Given the description of an element on the screen output the (x, y) to click on. 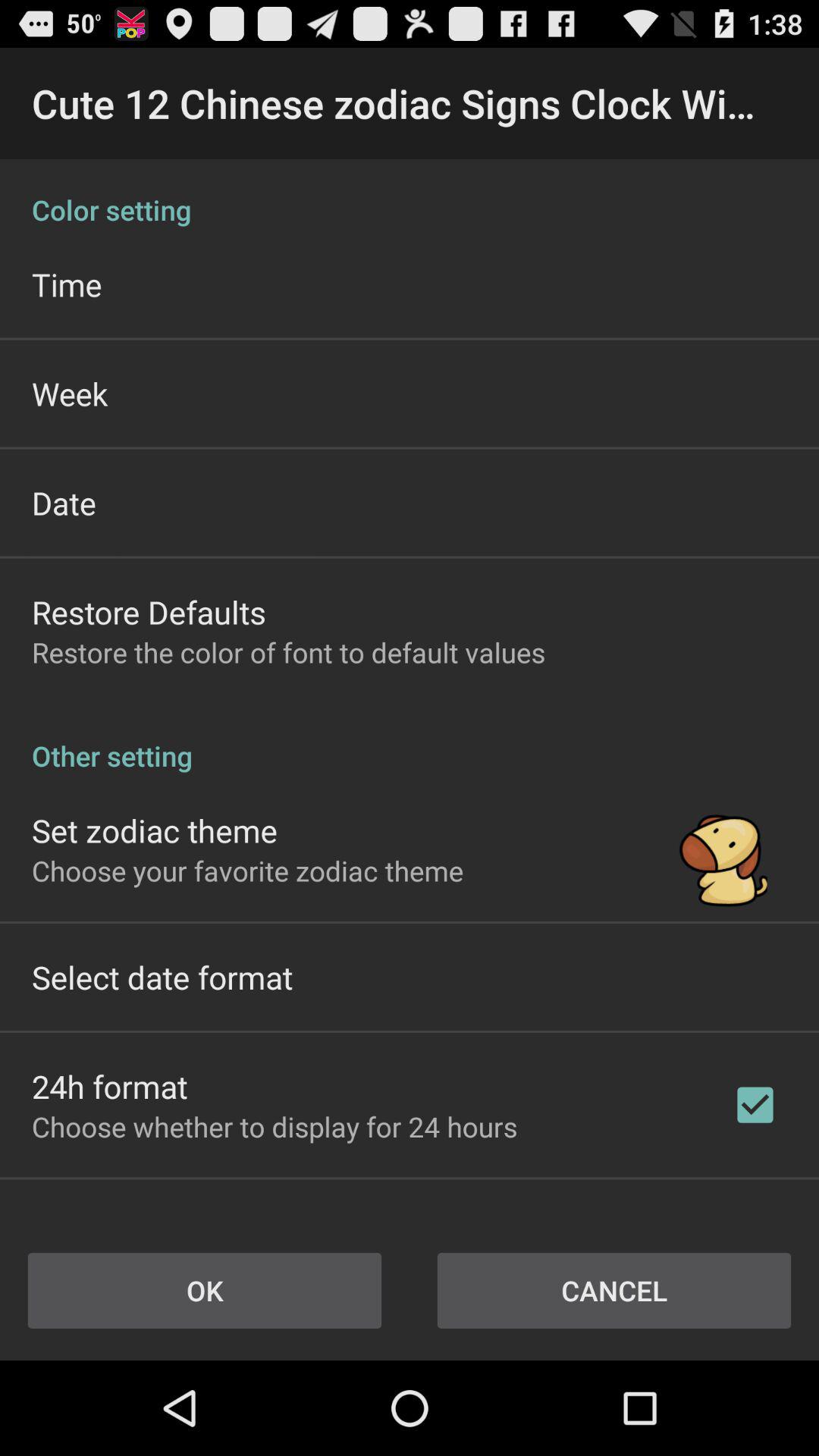
turn off the mandatory english app (163, 1216)
